Given the description of an element on the screen output the (x, y) to click on. 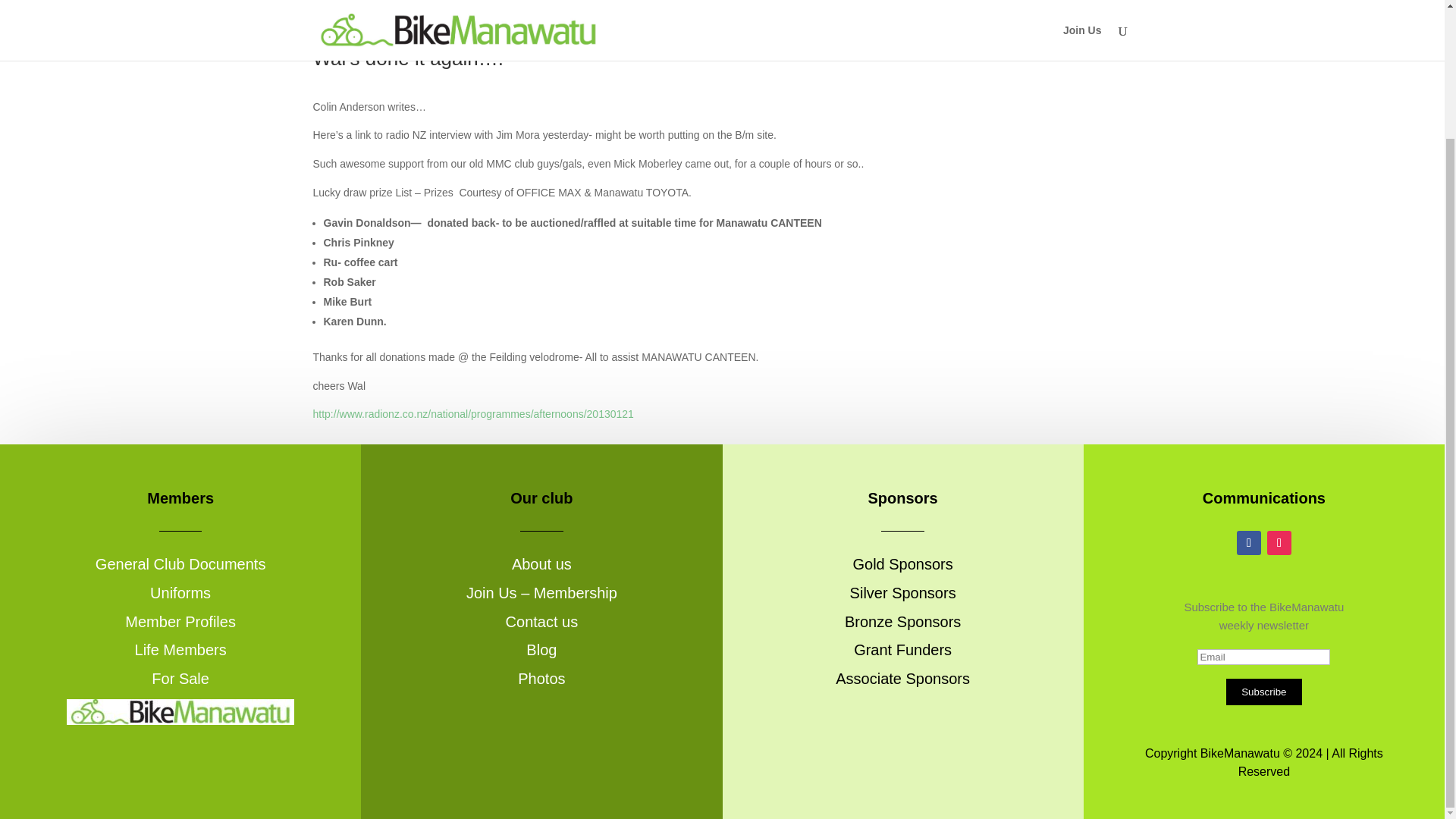
Follow on Facebook (1248, 542)
Subscribe (1263, 691)
Follow on Instagram (1278, 542)
BikeManawatuHorizontal2 (180, 711)
